Given the description of an element on the screen output the (x, y) to click on. 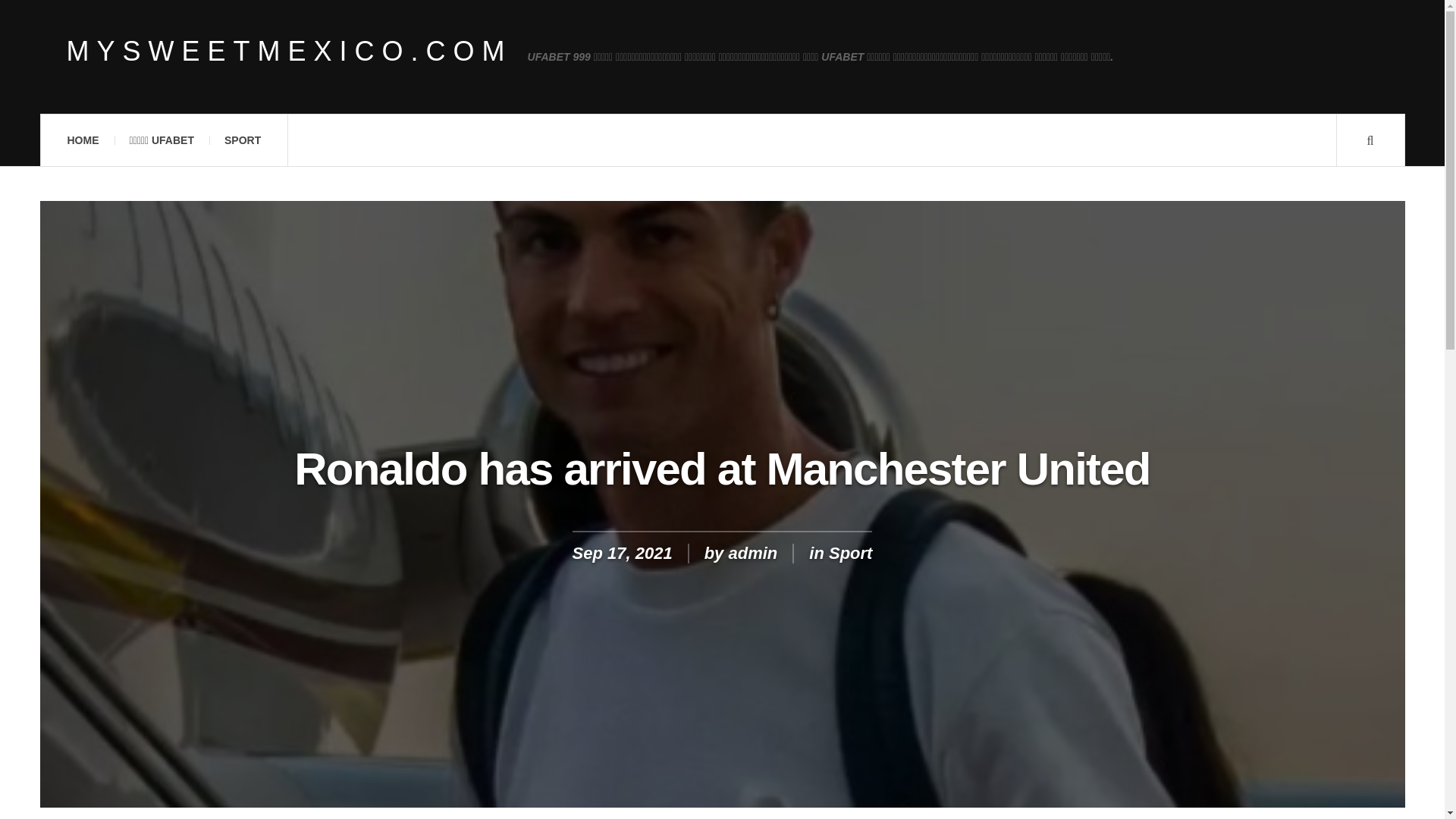
Sport (850, 552)
MYSWEETMEXICO.COM (289, 51)
HOME (81, 140)
admin (752, 552)
SPORT (242, 140)
View all posts in Sport (850, 552)
mysweetmexico.com (289, 51)
